Given the description of an element on the screen output the (x, y) to click on. 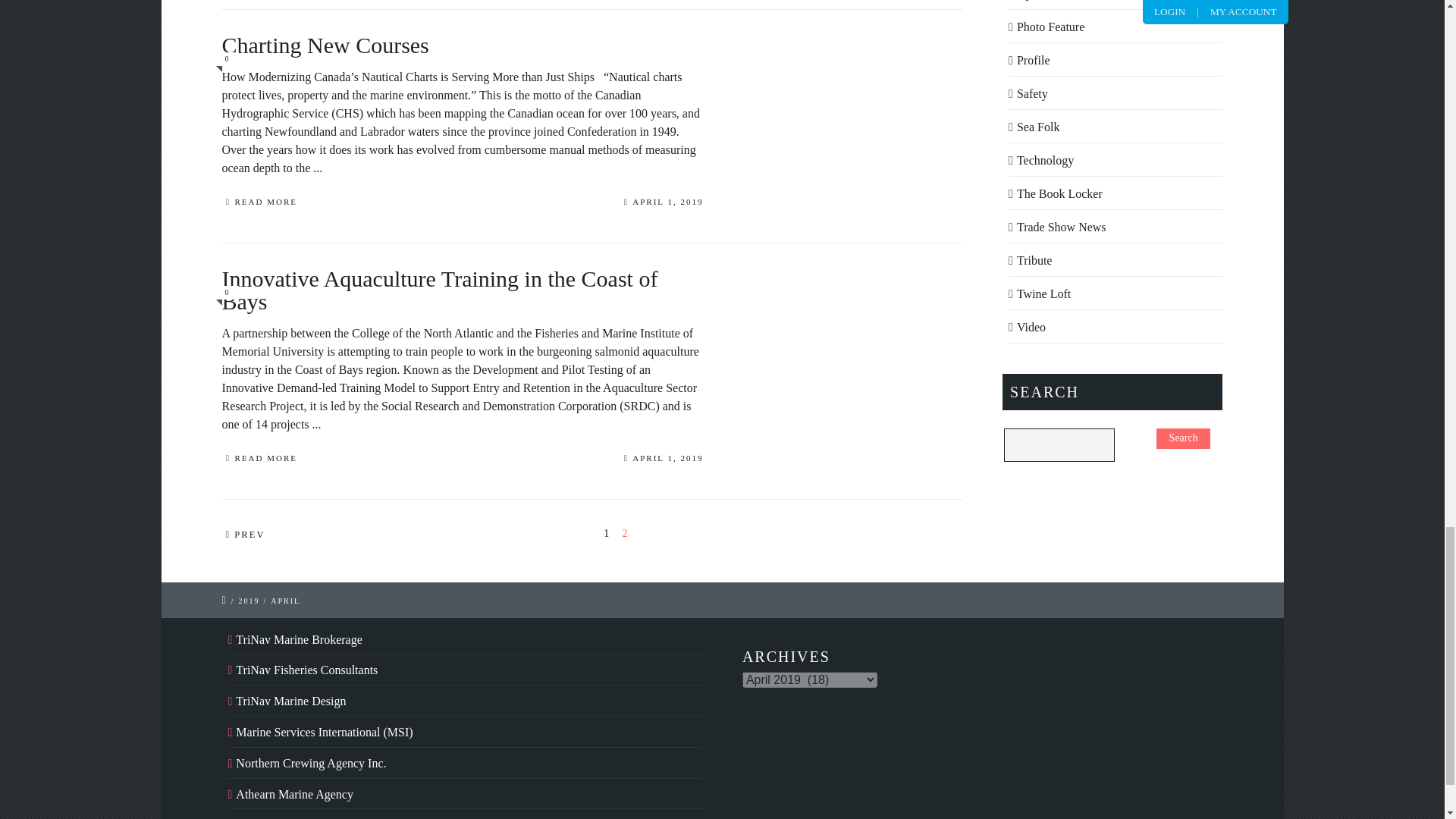
Search (1183, 438)
